Given the description of an element on the screen output the (x, y) to click on. 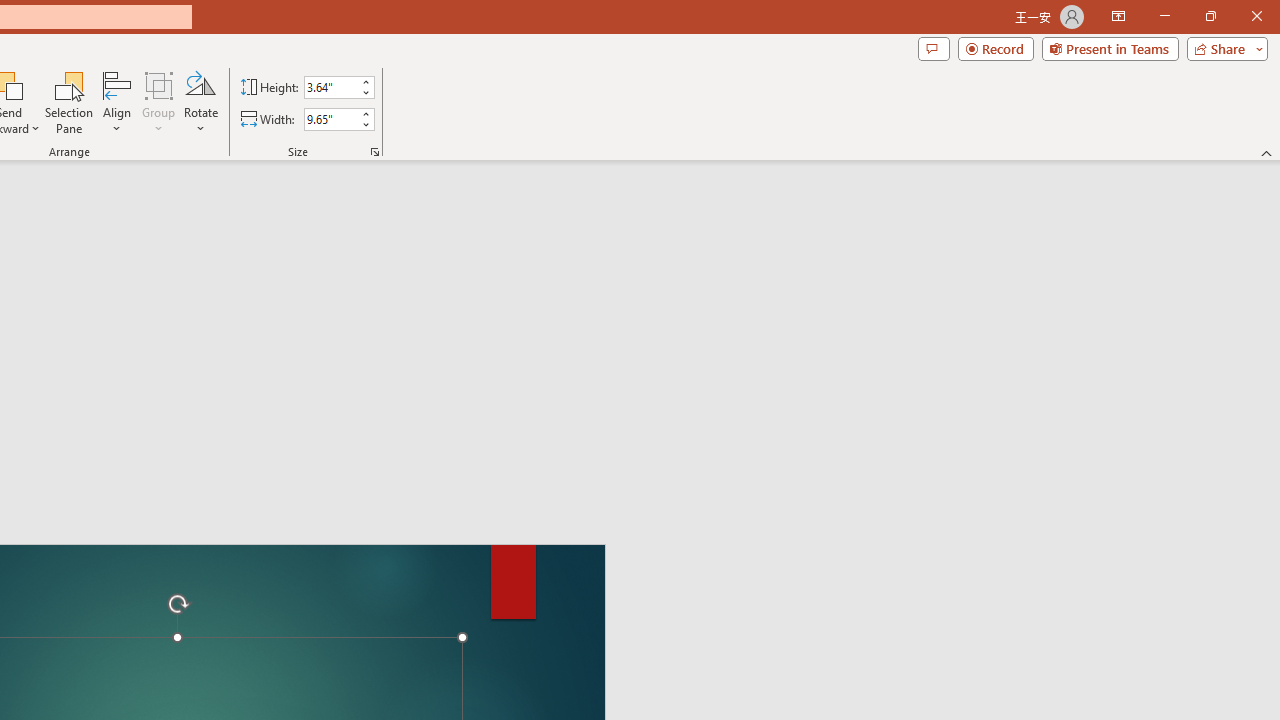
Align (117, 102)
Selection Pane... (69, 102)
Shape Height (330, 87)
Size and Position... (374, 151)
